Given the description of an element on the screen output the (x, y) to click on. 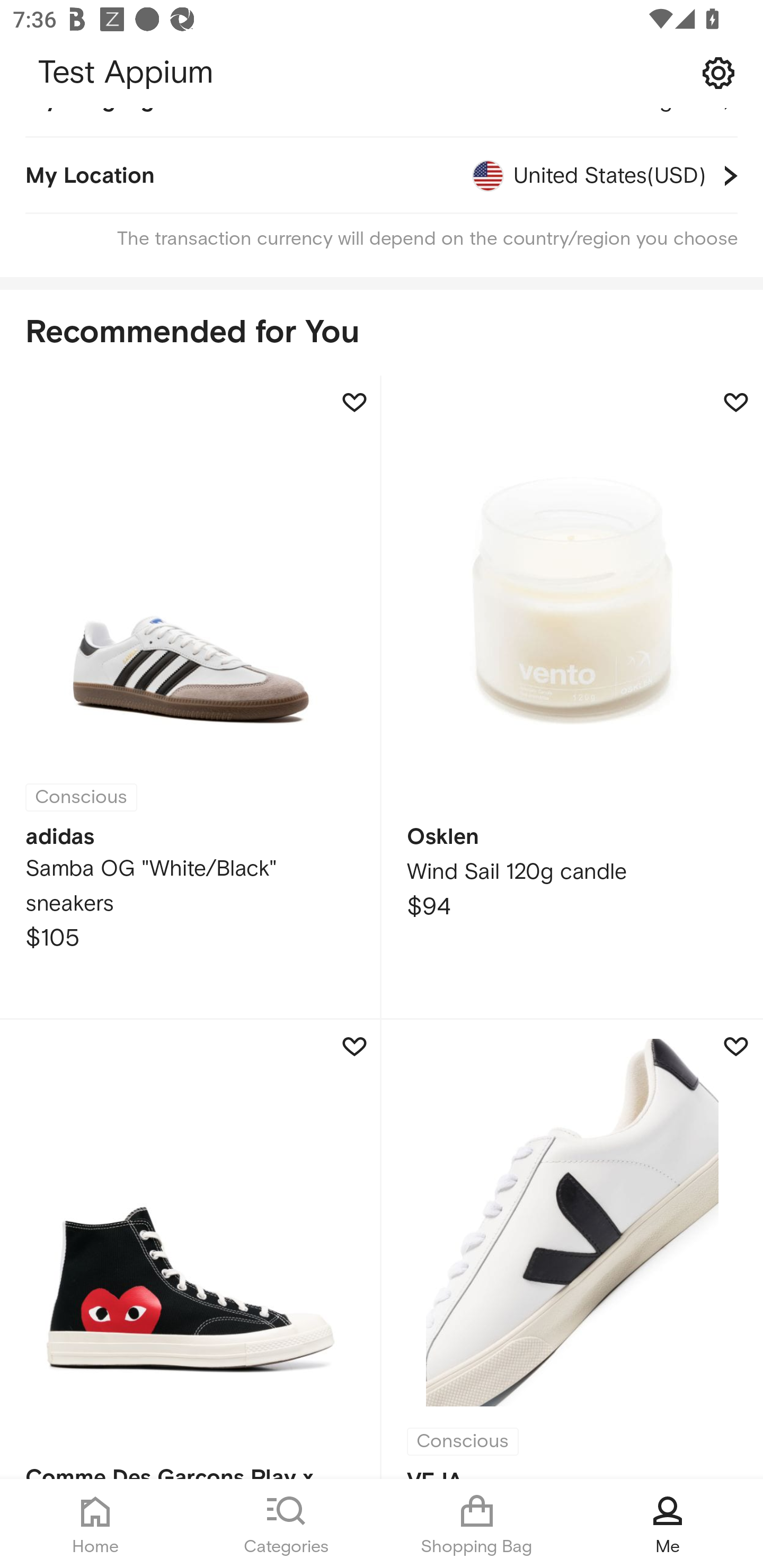
My Location United States(USD) (381, 175)
Osklen Wind Sail 120g candle $94 (572, 697)
Comme Des Garçons Play x Converse (190, 1248)
Conscious VEJA (572, 1248)
Home (95, 1523)
Categories (285, 1523)
Shopping Bag (476, 1523)
